Given the description of an element on the screen output the (x, y) to click on. 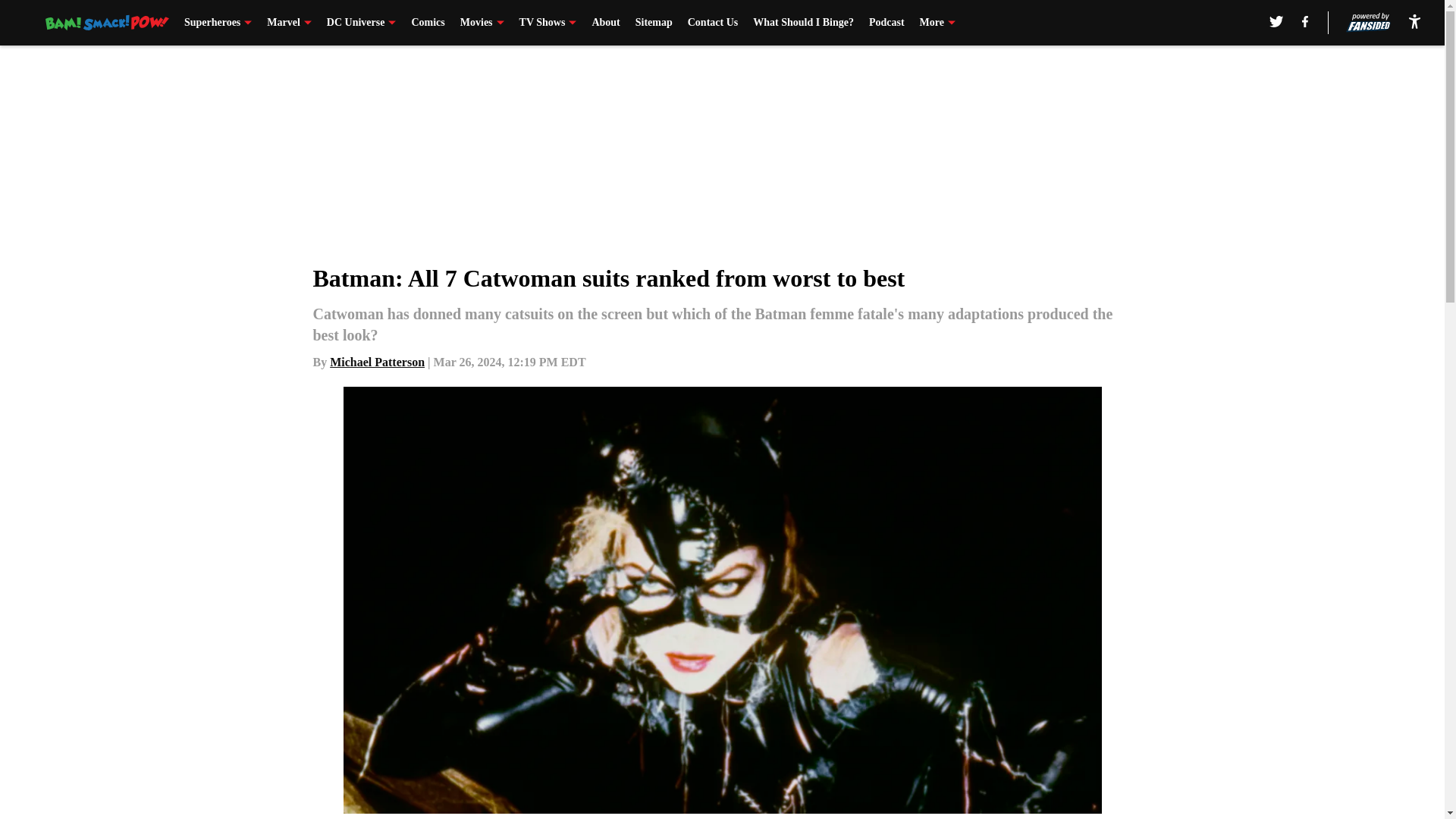
Comics (427, 22)
Contact Us (712, 22)
Podcast (886, 22)
Sitemap (653, 22)
More (937, 22)
Michael Patterson (377, 361)
What Should I Binge? (802, 22)
Movies (481, 22)
About (605, 22)
